Given the description of an element on the screen output the (x, y) to click on. 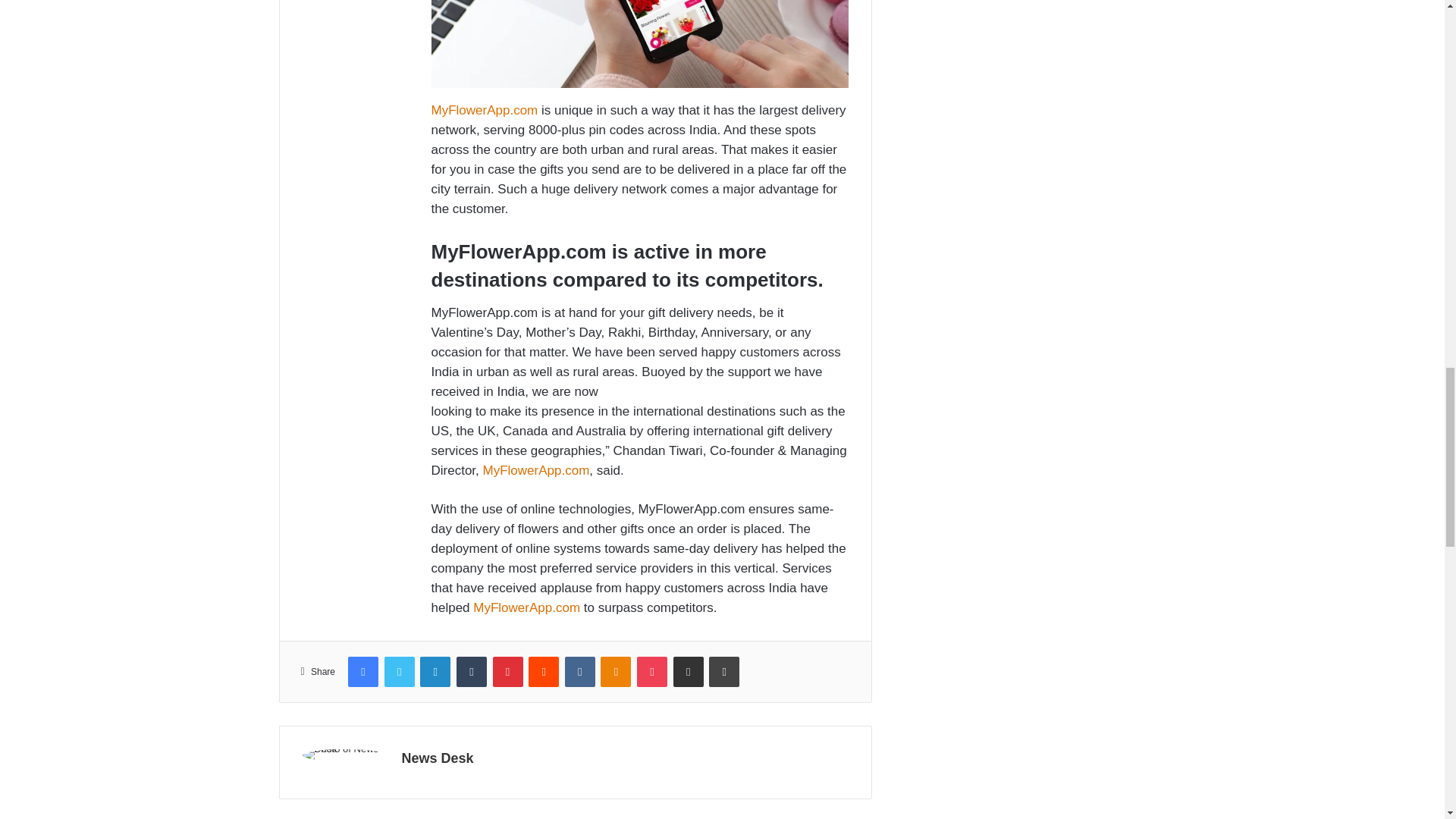
MyFlowerApp.com (536, 470)
MyFlowerApp.com (483, 110)
MyFlowerApp.com (526, 607)
